Given the description of an element on the screen output the (x, y) to click on. 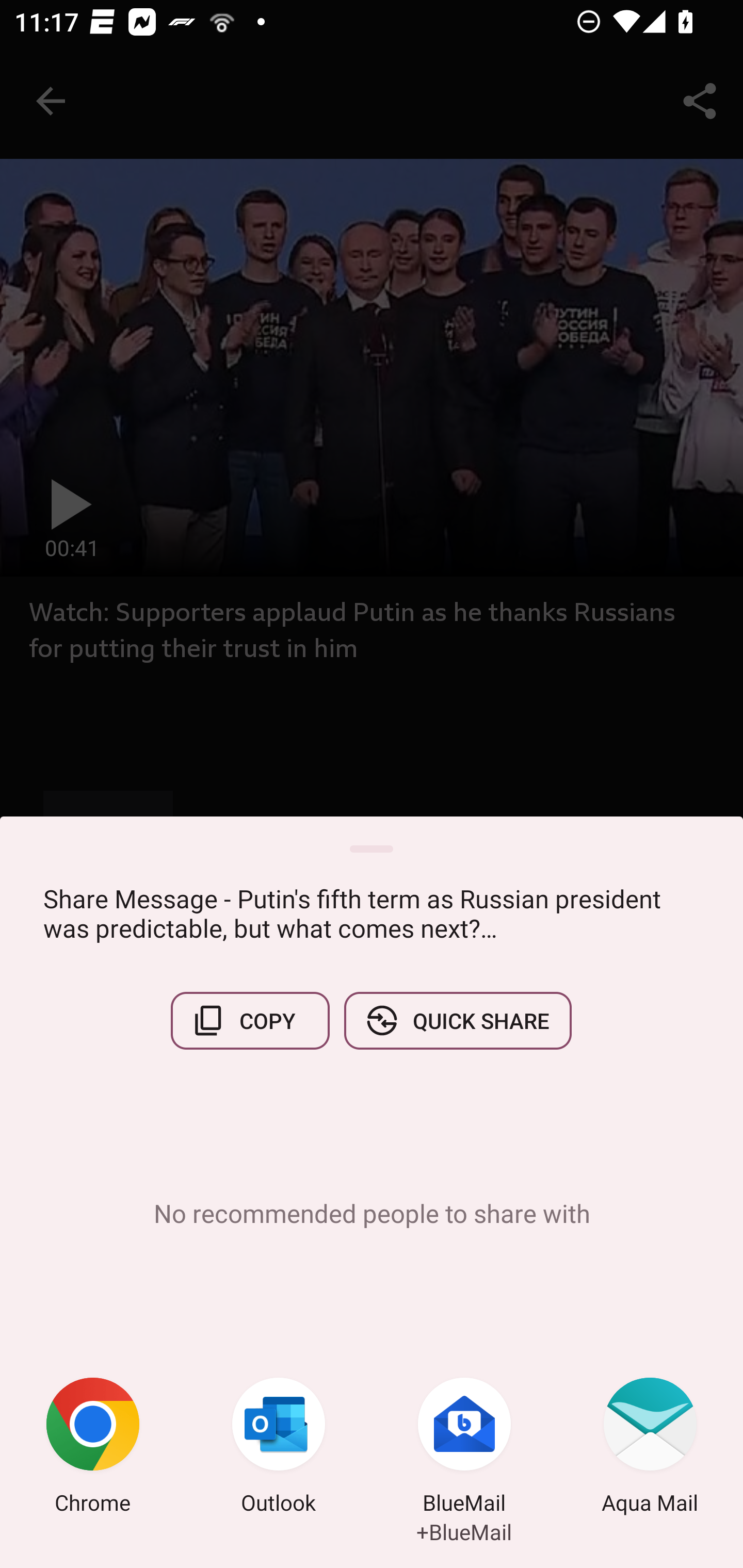
COPY (249, 1020)
QUICK SHARE (457, 1020)
Chrome (92, 1448)
Outlook (278, 1448)
BlueMail +BlueMail (464, 1448)
Aqua Mail (650, 1448)
